Given the description of an element on the screen output the (x, y) to click on. 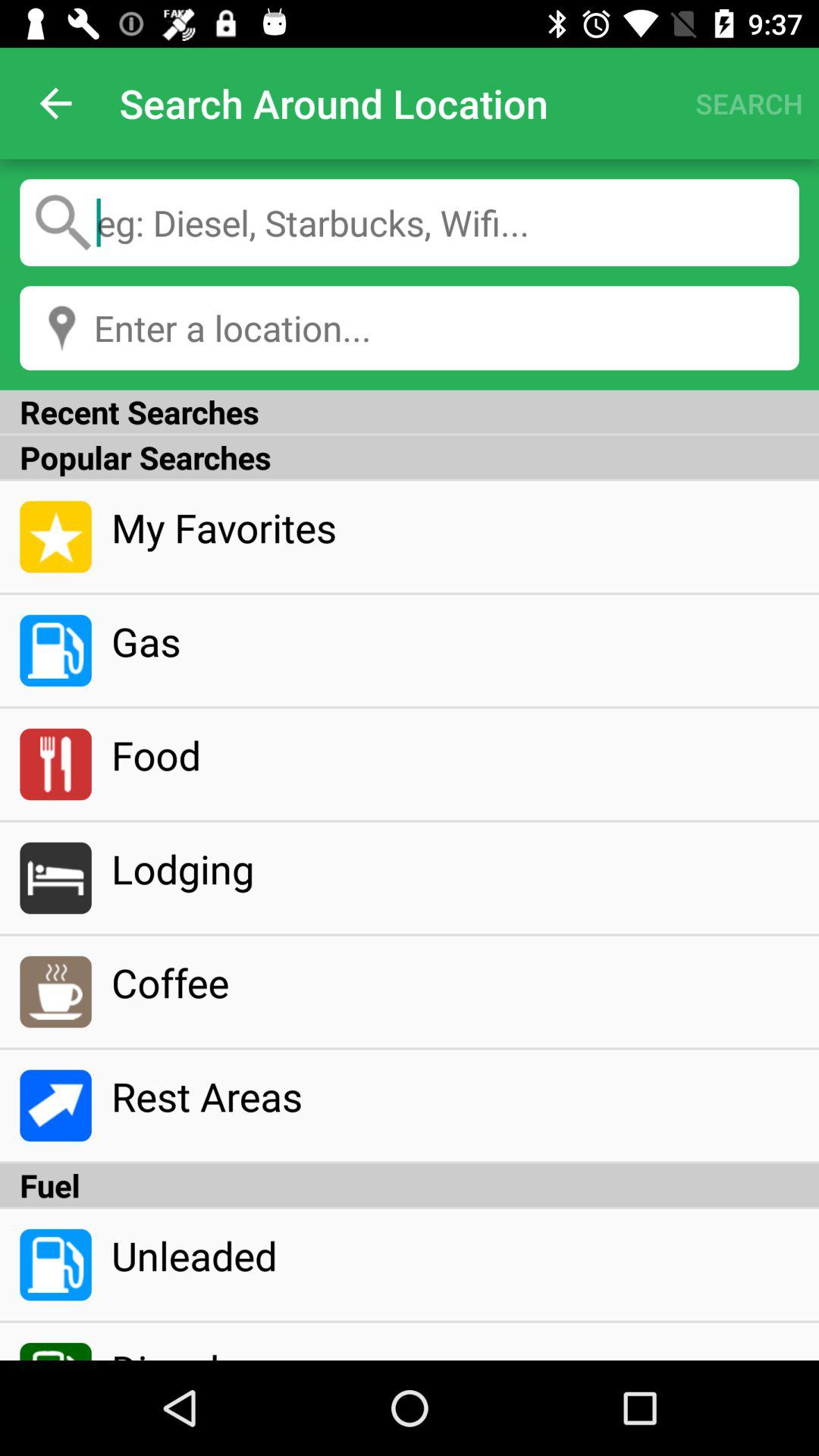
flip until recent searches item (409, 411)
